Given the description of an element on the screen output the (x, y) to click on. 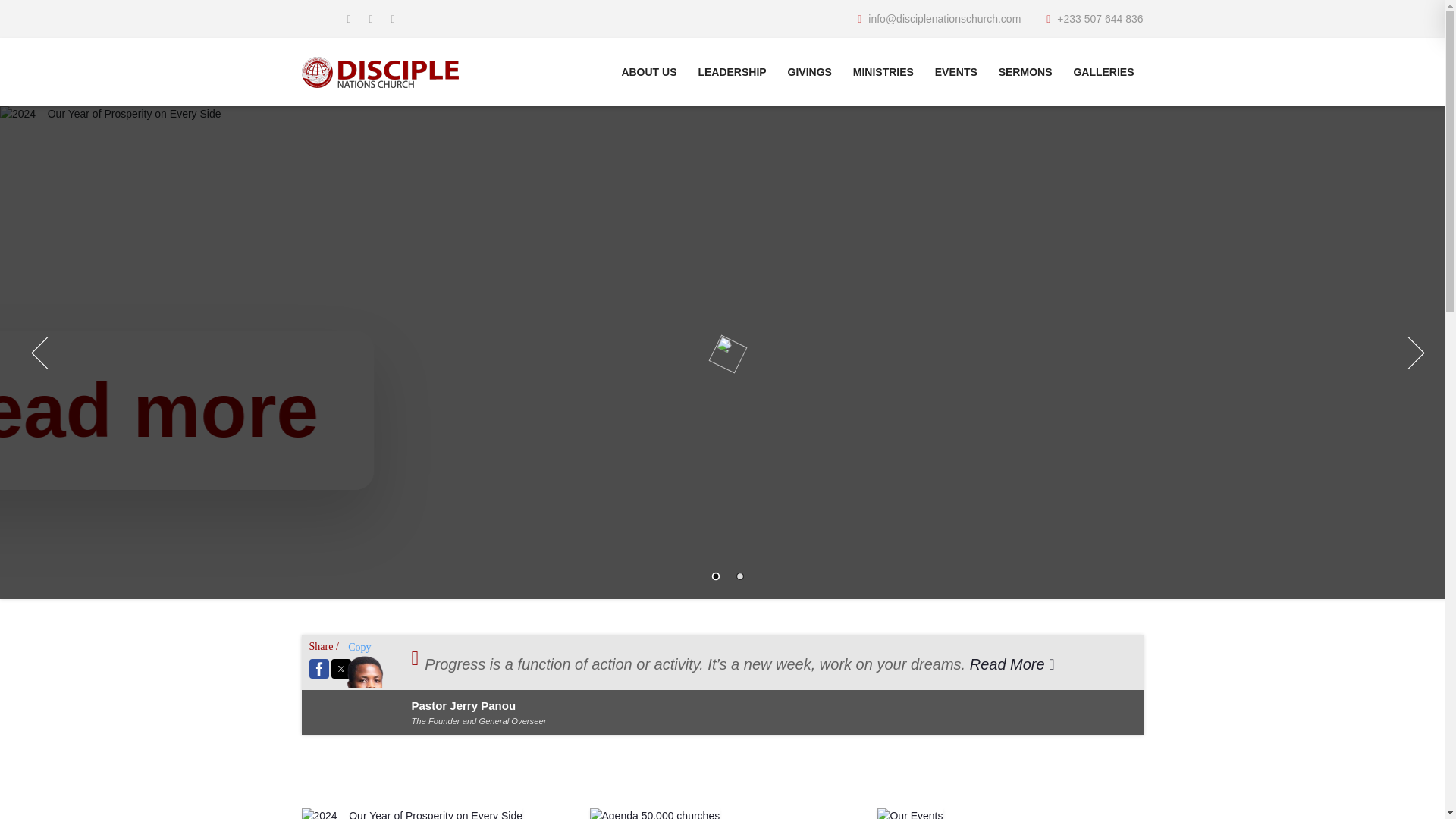
LEADERSHIP (731, 71)
About Us (648, 71)
Disciple Logo (379, 71)
MINISTRIES (883, 71)
Leadership (731, 71)
GIVINGS (809, 71)
ABOUT US (648, 71)
